Given the description of an element on the screen output the (x, y) to click on. 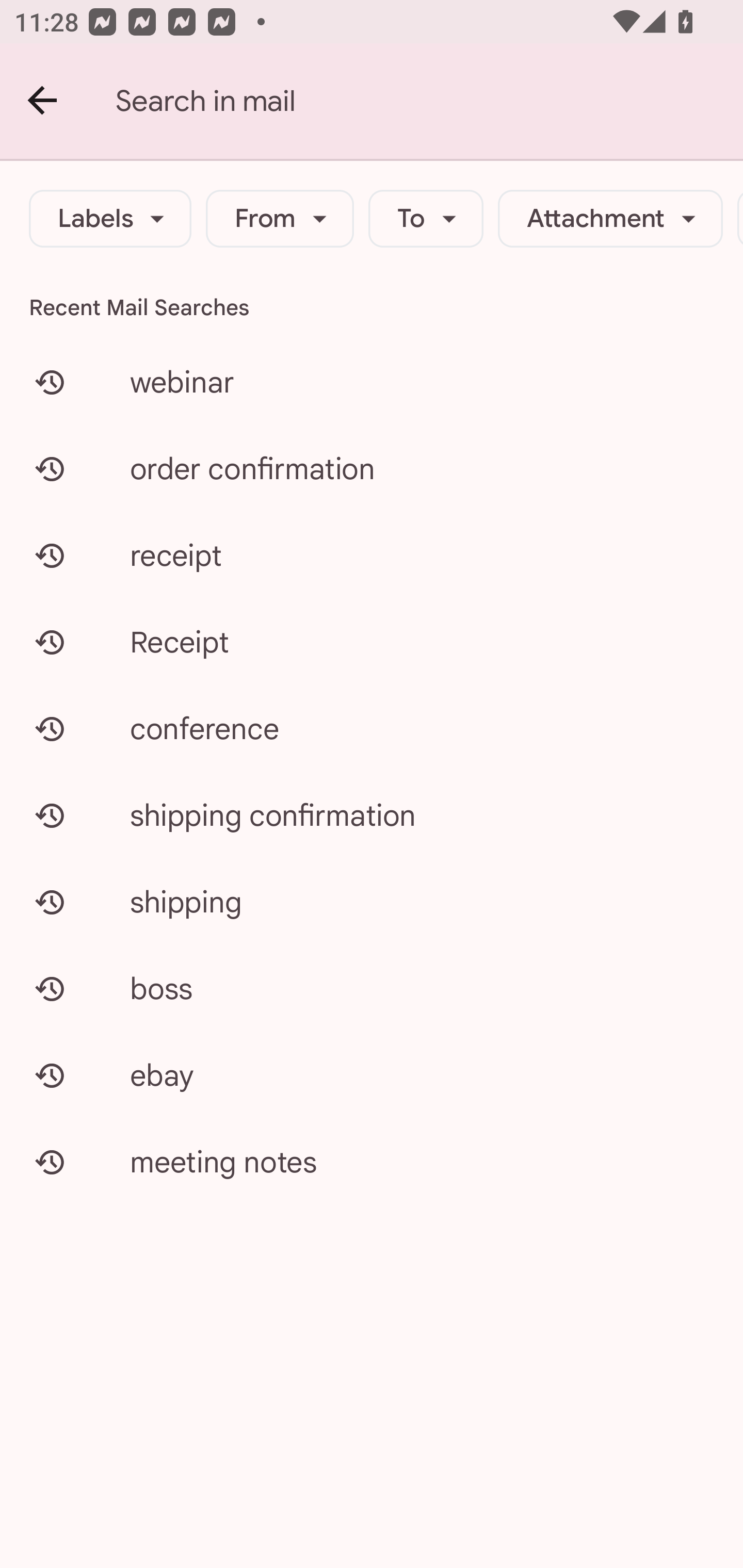
Back (43, 101)
Search in mail (429, 101)
Labels (109, 218)
From (279, 218)
To (425, 218)
Attachment (609, 218)
Recent Mail Searches (371, 306)
webinar Suggestion: webinar (371, 381)
order confirmation Suggestion: order confirmation (371, 468)
receipt Suggestion: receipt (371, 555)
Receipt Suggestion: Receipt (371, 641)
conference Suggestion: conference (371, 728)
boss Suggestion: boss (371, 988)
ebay Suggestion: ebay (371, 1074)
meeting notes Suggestion: meeting notes (371, 1161)
